Given the description of an element on the screen output the (x, y) to click on. 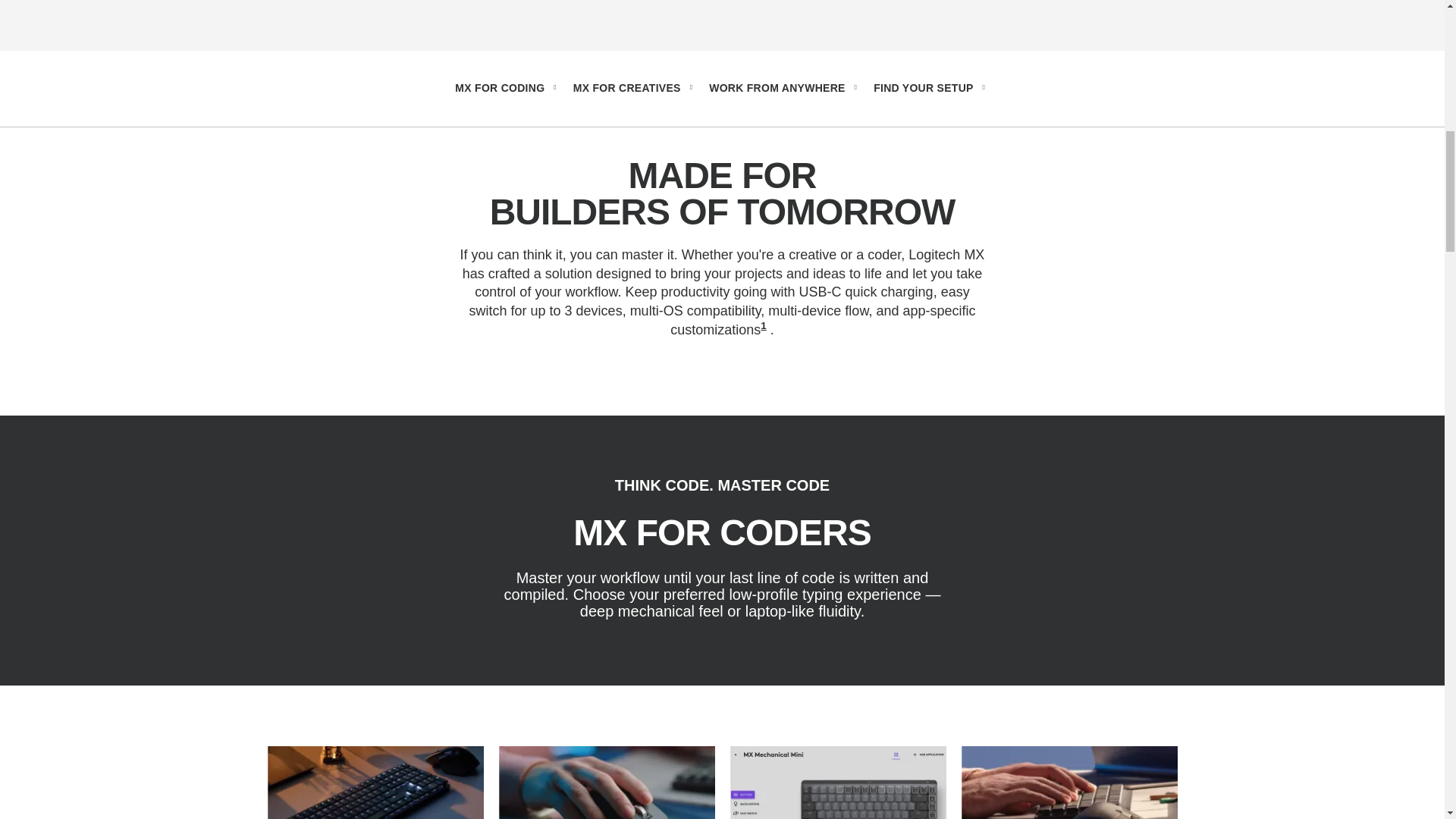
FIND YOUR SETUP (931, 88)
MX FOR CODING (507, 88)
MX FOR CREATIVES (635, 88)
WORK FROM ANYWHERE (785, 88)
